Given the description of an element on the screen output the (x, y) to click on. 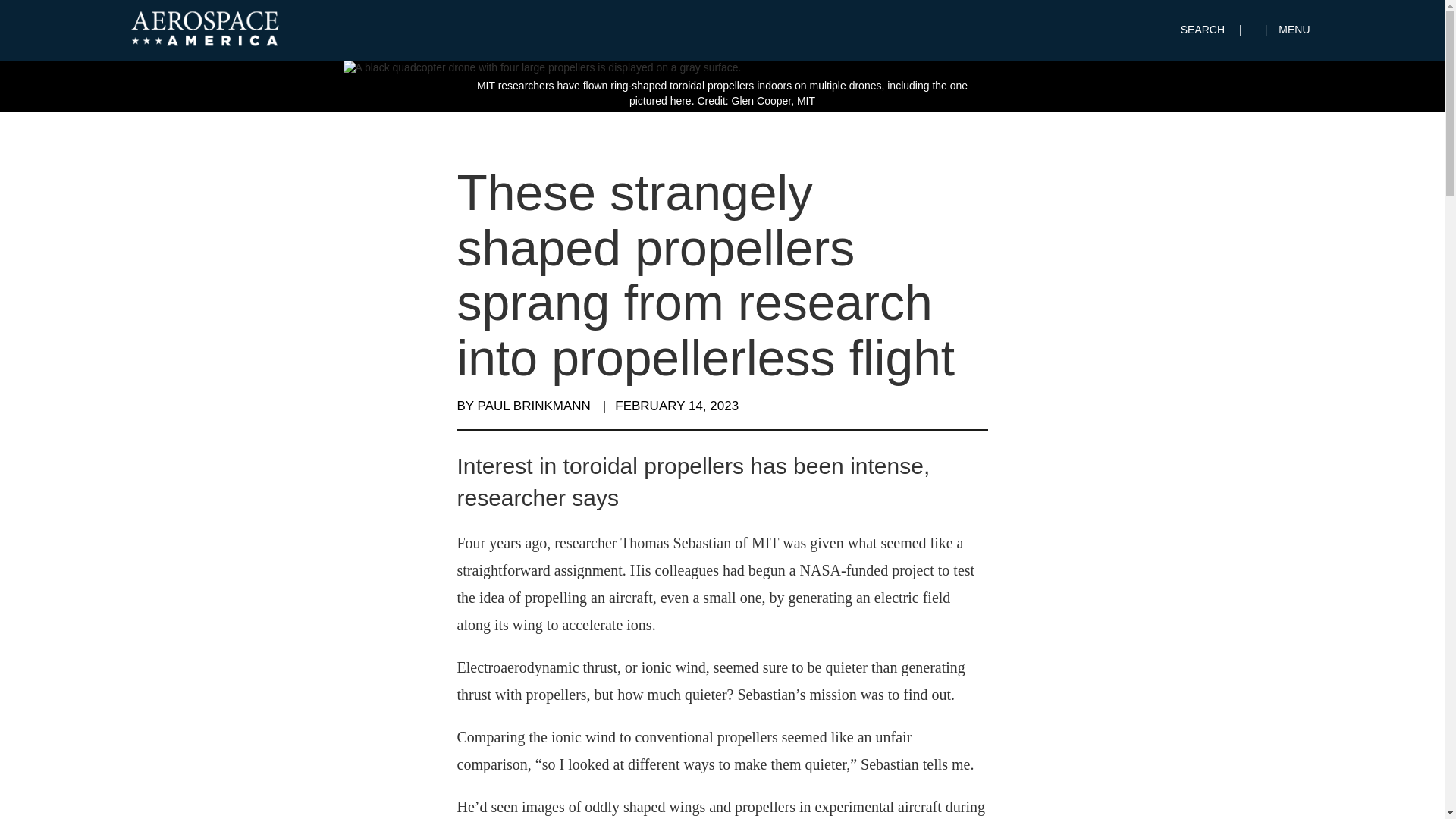
Staff (1028, 653)
Sitemap (1037, 752)
Aerospace Research Central (774, 669)
AIAA Industry Guide (754, 686)
About (1031, 635)
Terms of Use (1048, 735)
AIAA Foundation (746, 653)
Our Ethics (1042, 669)
AIAA (718, 635)
Privacy Policy (1050, 718)
Contact (1035, 686)
Advertise with us (1057, 702)
